Given the description of an element on the screen output the (x, y) to click on. 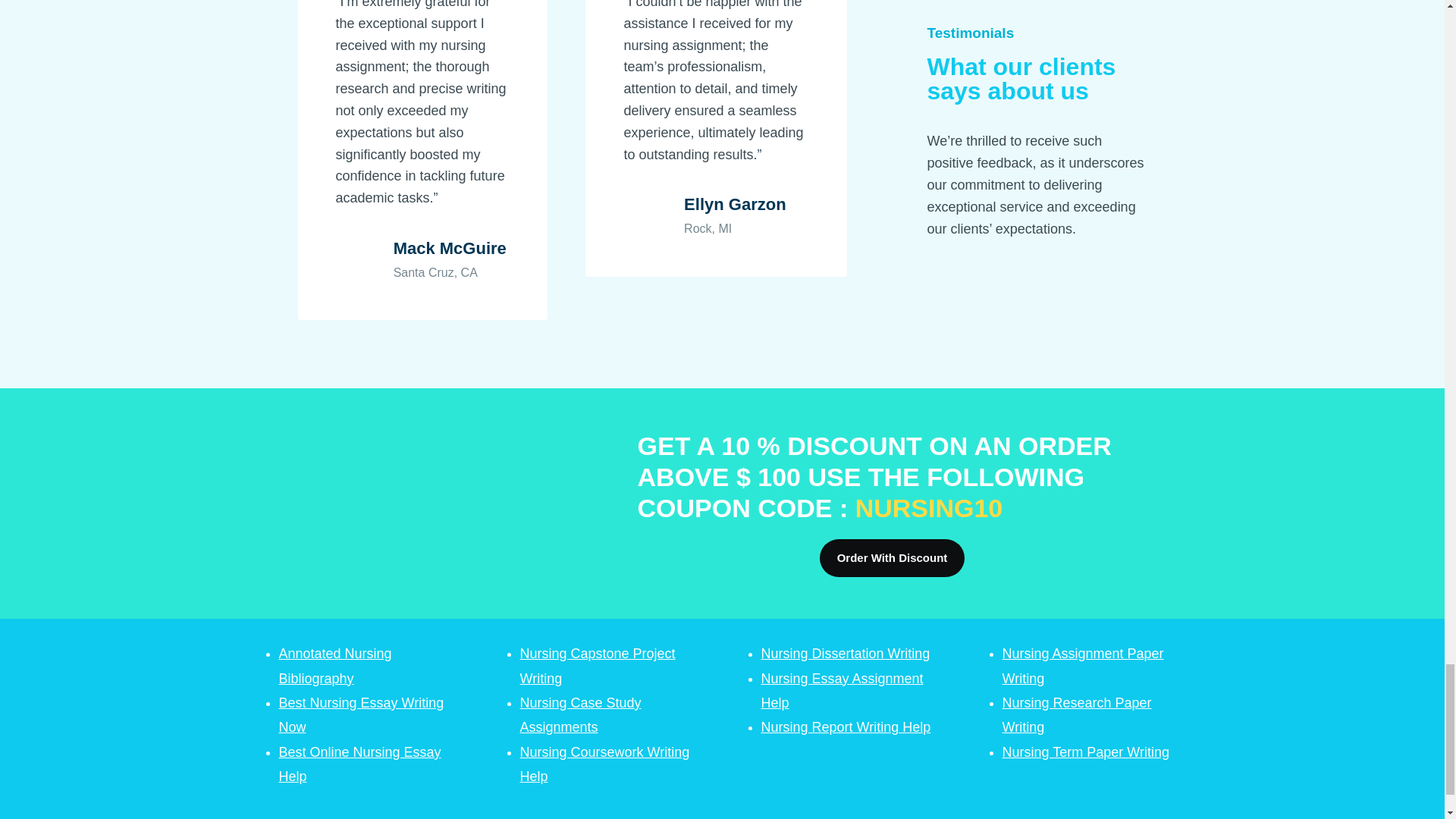
Best Nursing Essay Writing Now (361, 714)
Annotated Nursing Bibliography (335, 665)
Nursing Capstone Project Writing (597, 665)
Order With Discount (892, 557)
Nursing Case Study Assignments (580, 714)
Nursing Coursework Writing Help (604, 763)
Best Online Nursing Essay Help (360, 763)
